Given the description of an element on the screen output the (x, y) to click on. 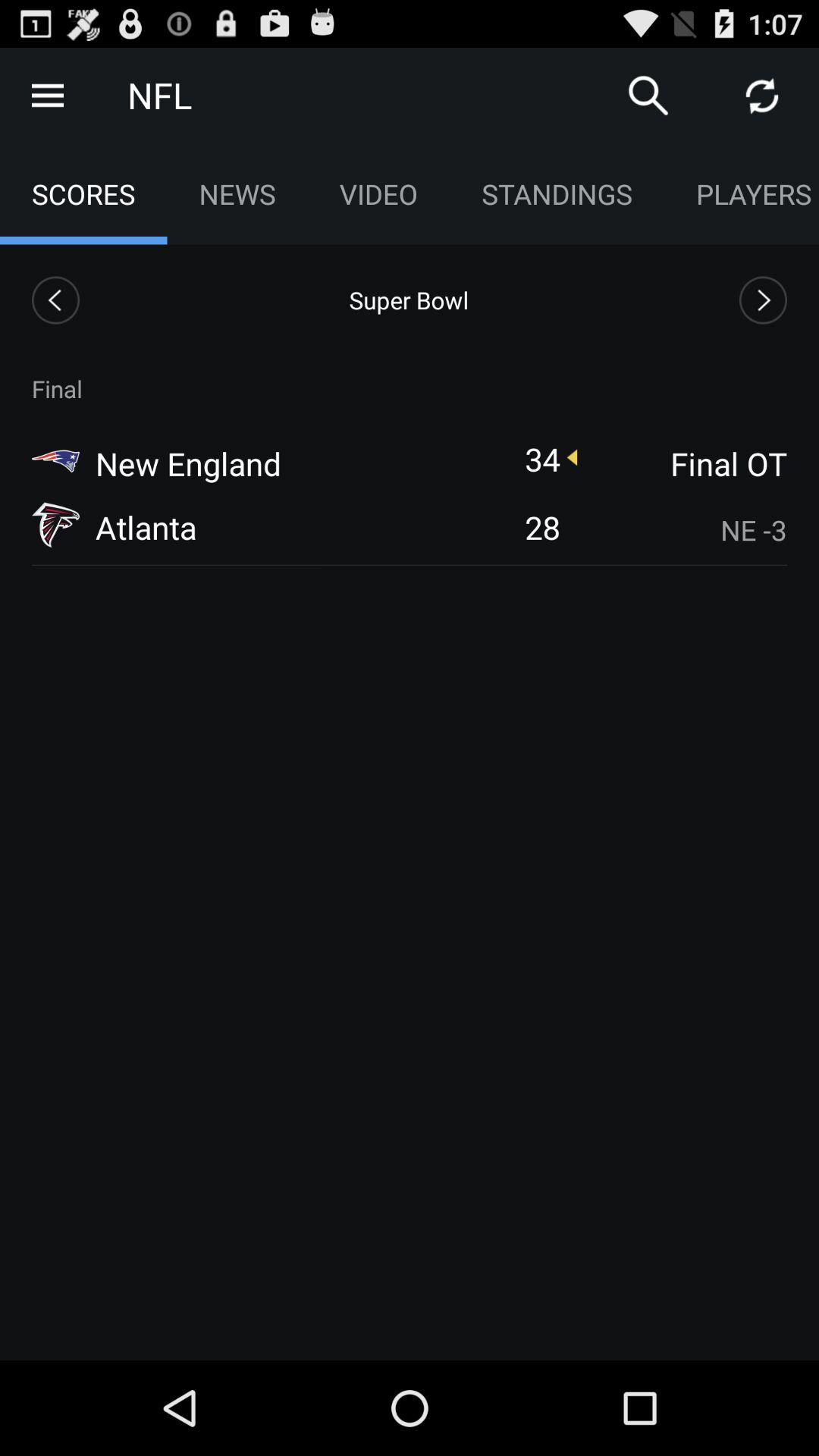
turn on item to the left of the ne -3 (542, 526)
